Given the description of an element on the screen output the (x, y) to click on. 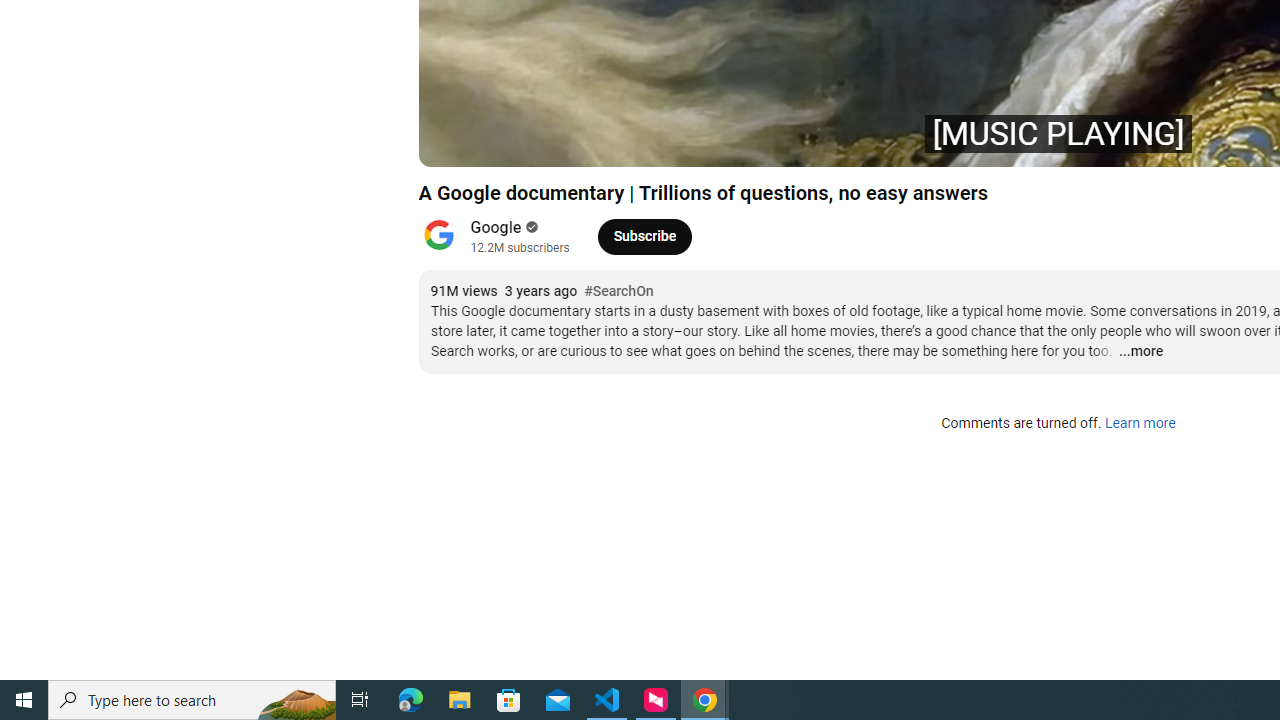
Learn more (1139, 423)
#SearchOn (618, 291)
Next (SHIFT+n) (500, 142)
Pause (k) (453, 142)
Mute (m) (548, 142)
...more (1140, 352)
Subscribe to Google. (644, 236)
Verified (530, 227)
